Given the description of an element on the screen output the (x, y) to click on. 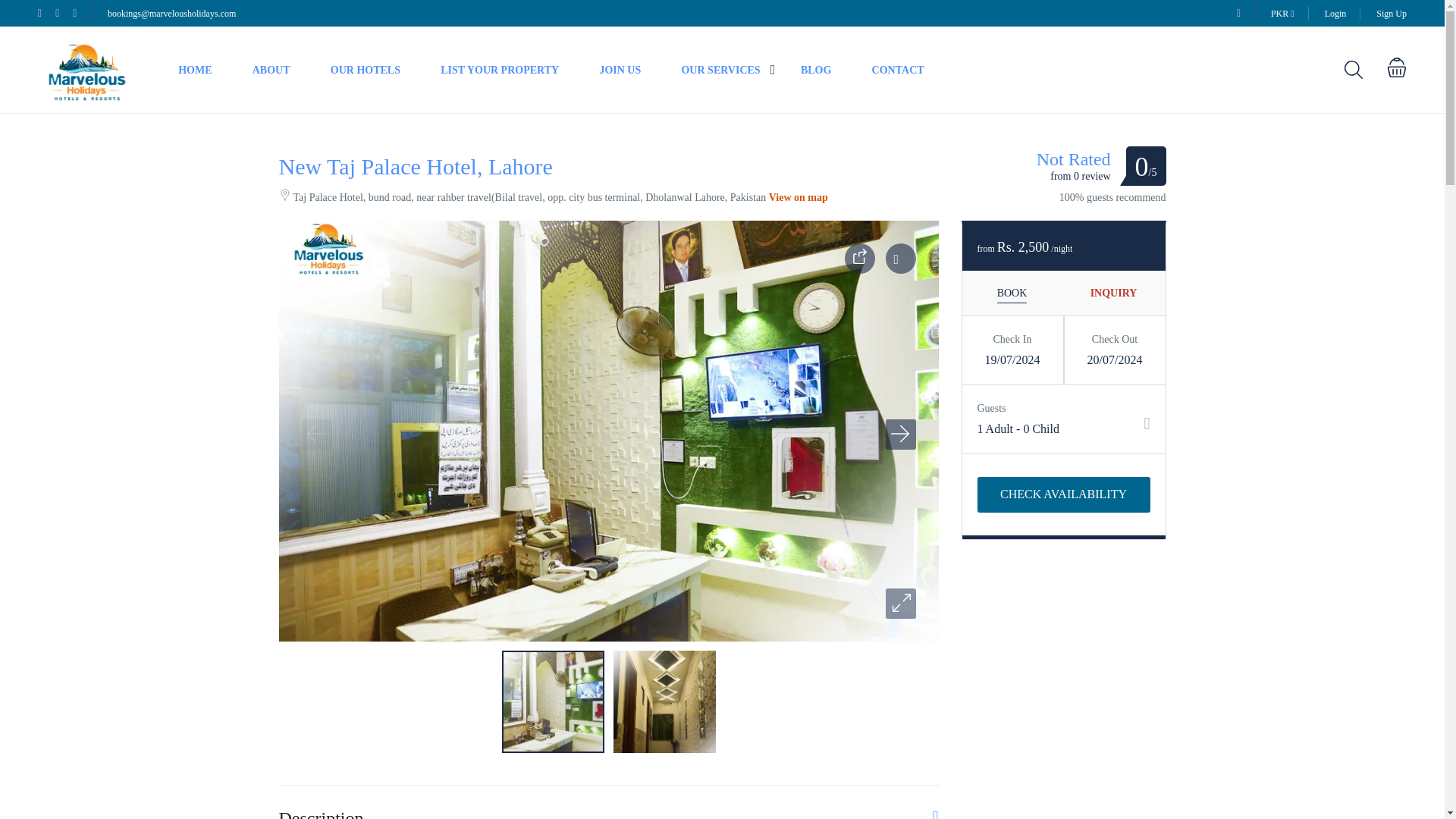
HOME (194, 69)
OUR SERVICES (720, 69)
CONTACT (898, 69)
Check Availability (1063, 494)
OUR HOTELS (365, 69)
PKR (1282, 13)
JOIN US (619, 69)
Login (1335, 13)
LIST YOUR PROPERTY (500, 69)
ABOUT (270, 69)
BLOG (815, 69)
View on map (798, 197)
Sign Up (1390, 13)
